Given the description of an element on the screen output the (x, y) to click on. 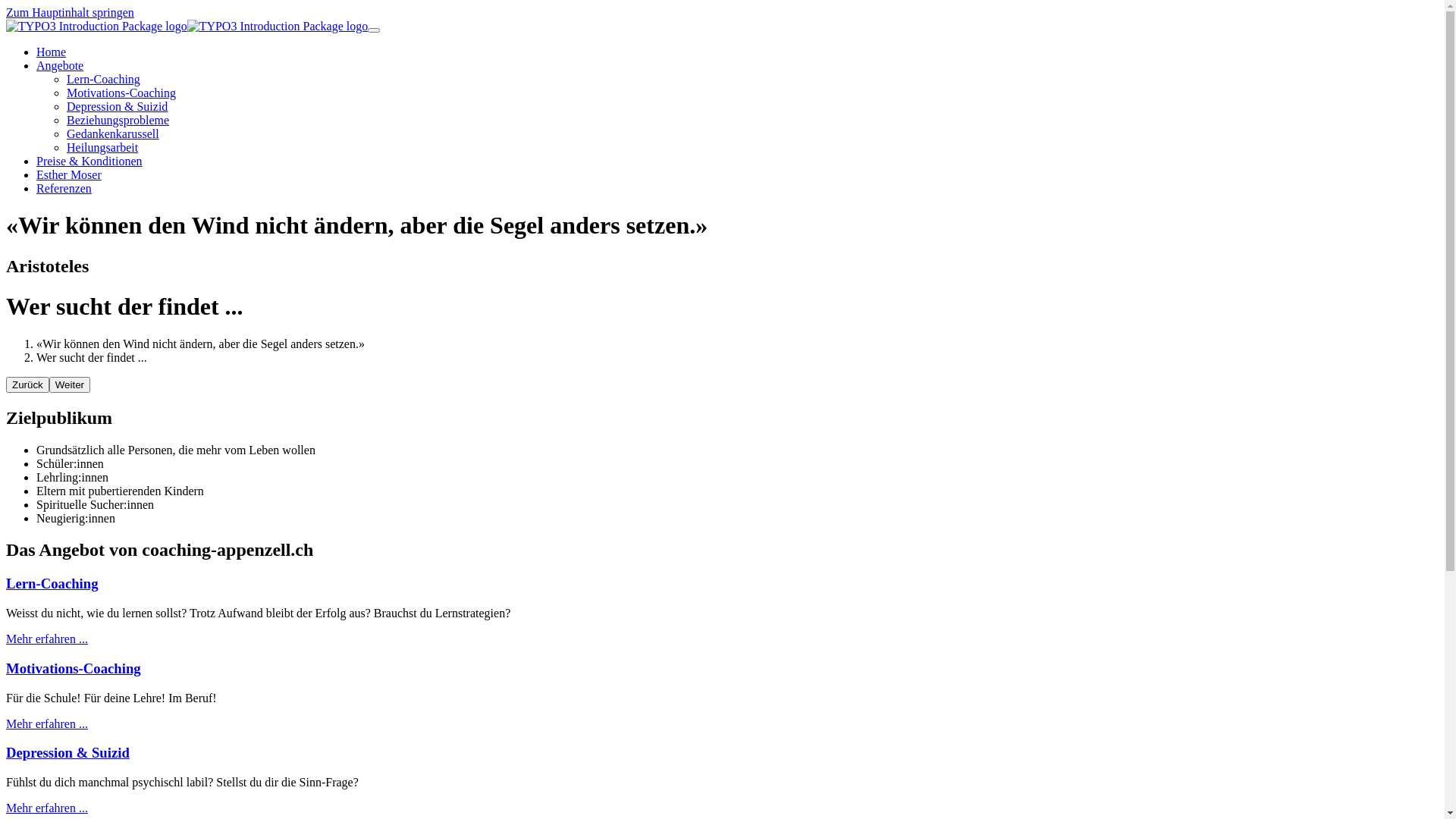
Zum Hauptinhalt springen Element type: text (70, 12)
Angebote Element type: text (59, 65)
Lern-Coaching Element type: text (52, 583)
Referenzen Element type: text (63, 188)
Weiter Element type: text (69, 384)
Mehr erfahren ... Element type: text (46, 807)
Esther Moser Element type: text (68, 174)
Beziehungsprobleme Element type: text (117, 119)
Mehr erfahren ... Element type: text (46, 723)
Home Element type: text (50, 51)
Depression & Suizid Element type: text (67, 752)
Gedankenkarussell Element type: text (112, 133)
Depression & Suizid Element type: text (116, 106)
Motivations-Coaching Element type: text (120, 92)
Lern-Coaching Element type: text (103, 78)
Mehr erfahren ... Element type: text (46, 638)
Heilungsarbeit Element type: text (102, 147)
Preise & Konditionen Element type: text (89, 160)
Motivations-Coaching Element type: text (73, 668)
